Given the description of an element on the screen output the (x, y) to click on. 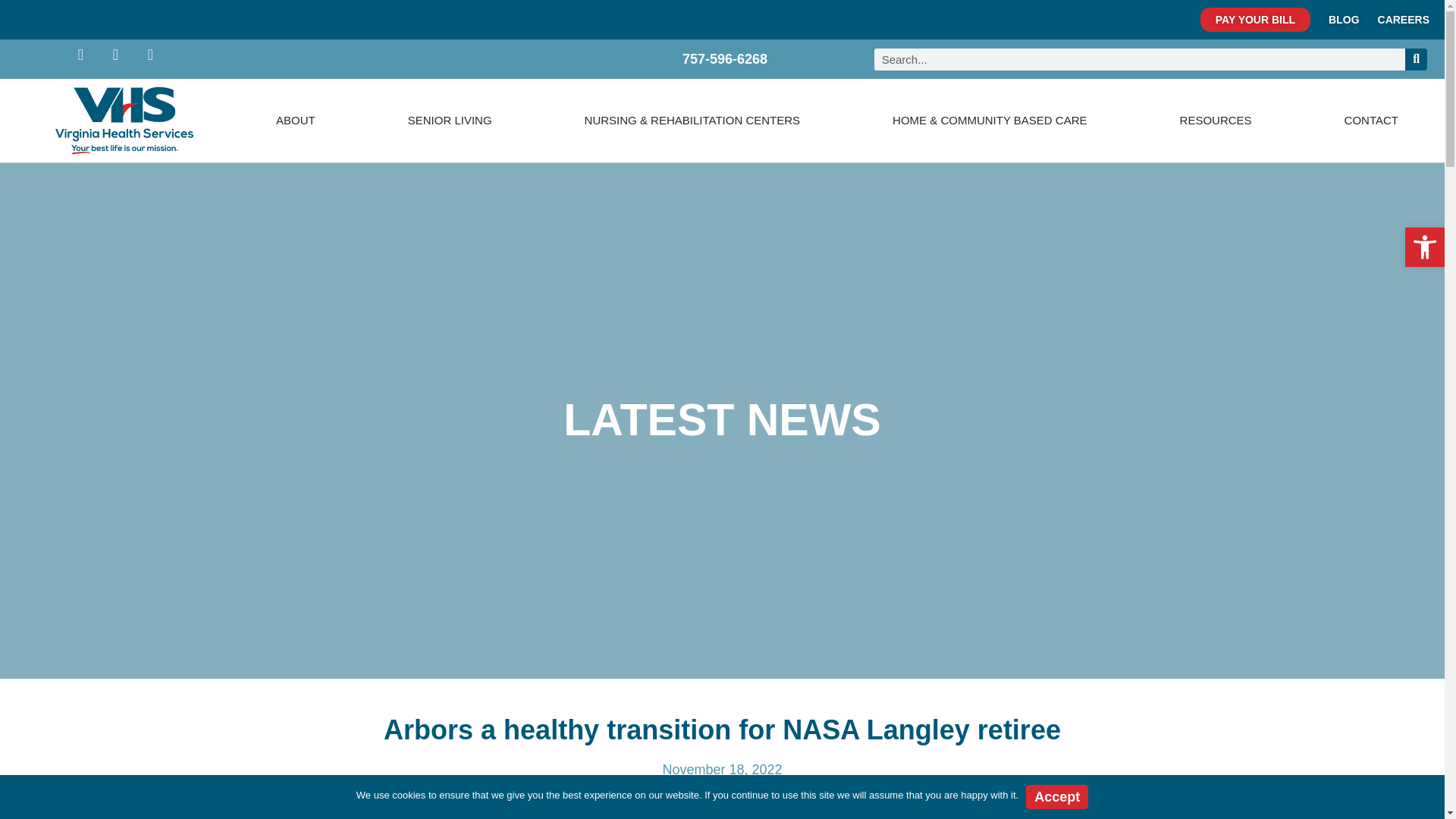
Virginia Health Service - Your best life is our mission. (124, 119)
ABOUT (295, 120)
PAY YOUR BILL (1254, 19)
Accessibility Tools (1424, 247)
RESOURCES (1216, 120)
757-596-6268 (717, 59)
CAREERS (1403, 19)
SENIOR LIVING (449, 120)
BLOG (1342, 19)
SENIOR LIVING (449, 120)
ABOUT (295, 120)
